Given the description of an element on the screen output the (x, y) to click on. 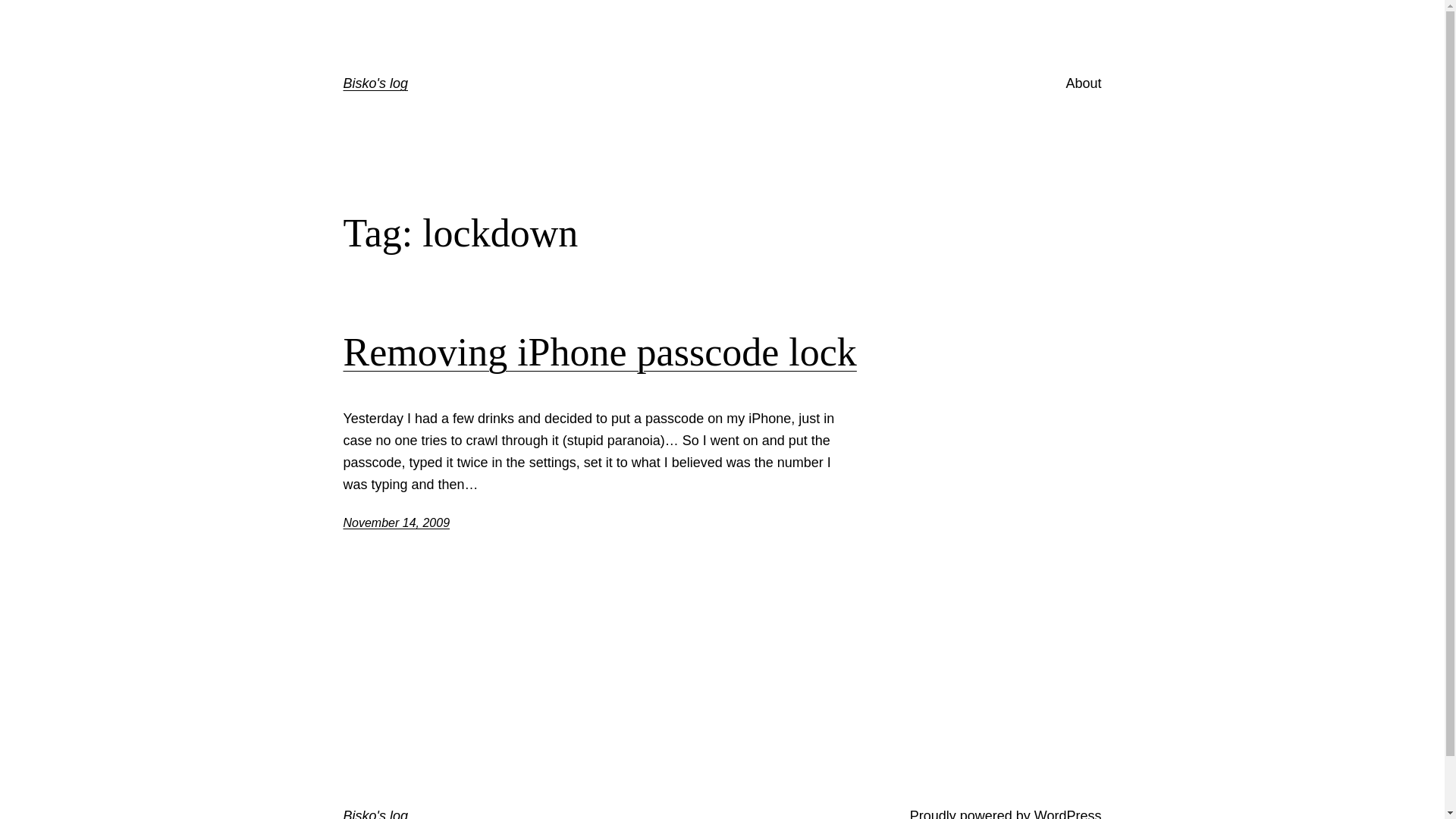
November 14, 2009 Element type: text (395, 522)
Removing iPhone passcode lock Element type: text (599, 352)
About Element type: text (1083, 83)
Bisko's log Element type: text (374, 83)
